Given the description of an element on the screen output the (x, y) to click on. 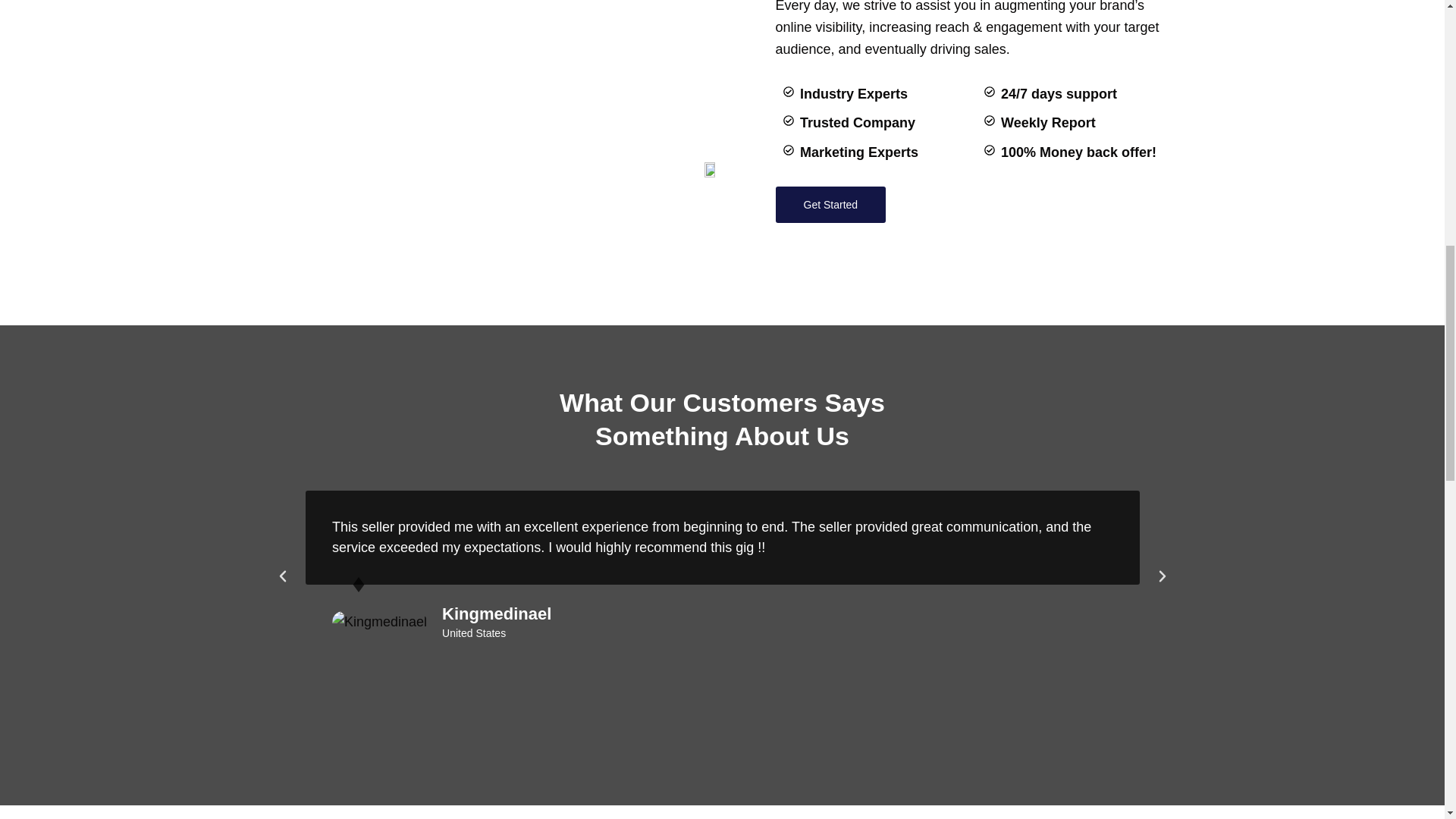
Get Started (829, 204)
